Given the description of an element on the screen output the (x, y) to click on. 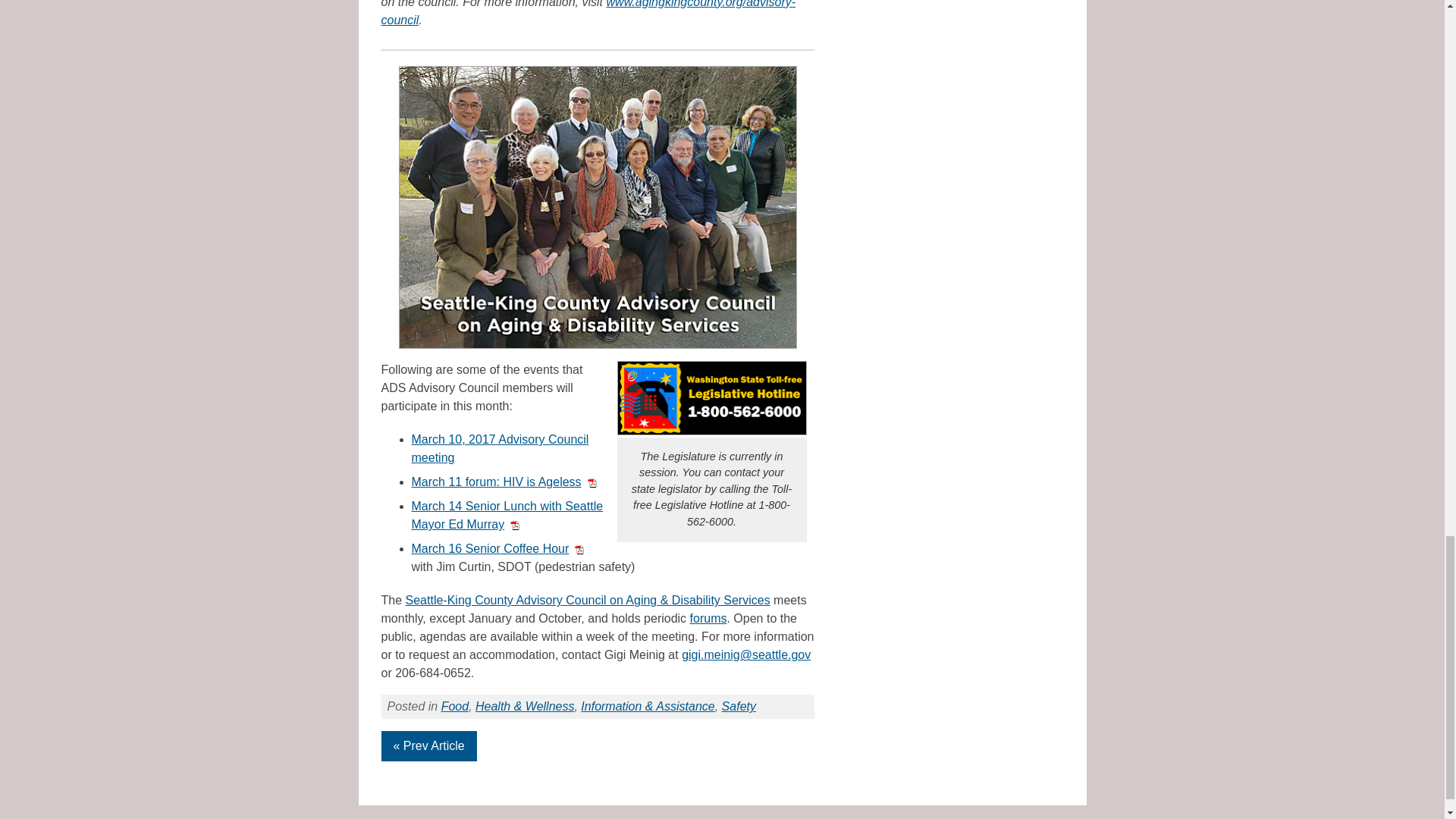
forums (708, 617)
Safety (738, 706)
March 10, 2017 Advisory Council meeting (499, 448)
Food (454, 706)
March 14 Senior Lunch with Seattle Mayor Ed Murray (506, 514)
March 11 forum: HIV is Ageless (502, 481)
March 16 Senior Coffee Hour (496, 548)
